Given the description of an element on the screen output the (x, y) to click on. 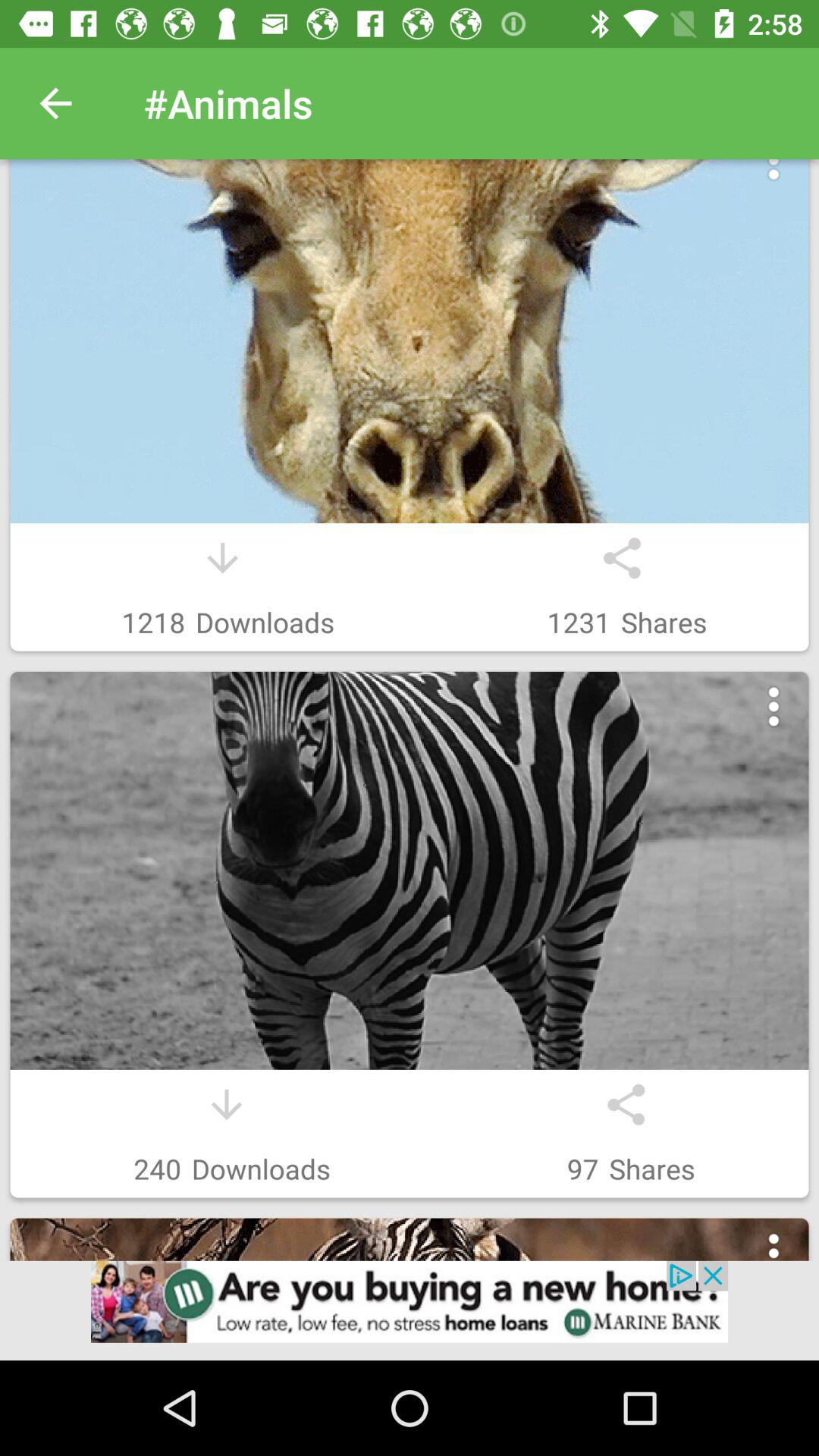
see more options (773, 177)
